Given the description of an element on the screen output the (x, y) to click on. 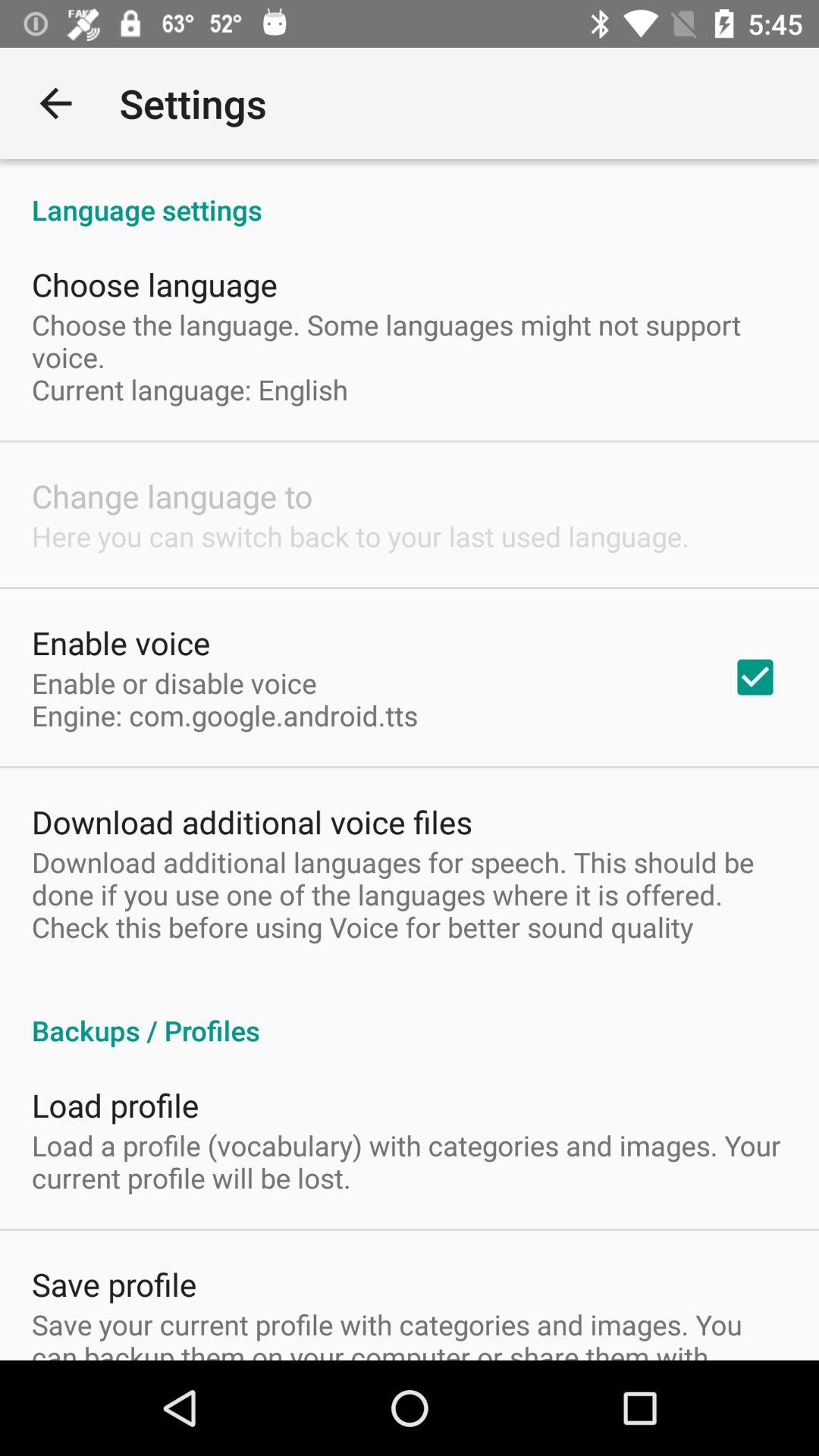
choose the language settings icon (409, 193)
